Given the description of an element on the screen output the (x, y) to click on. 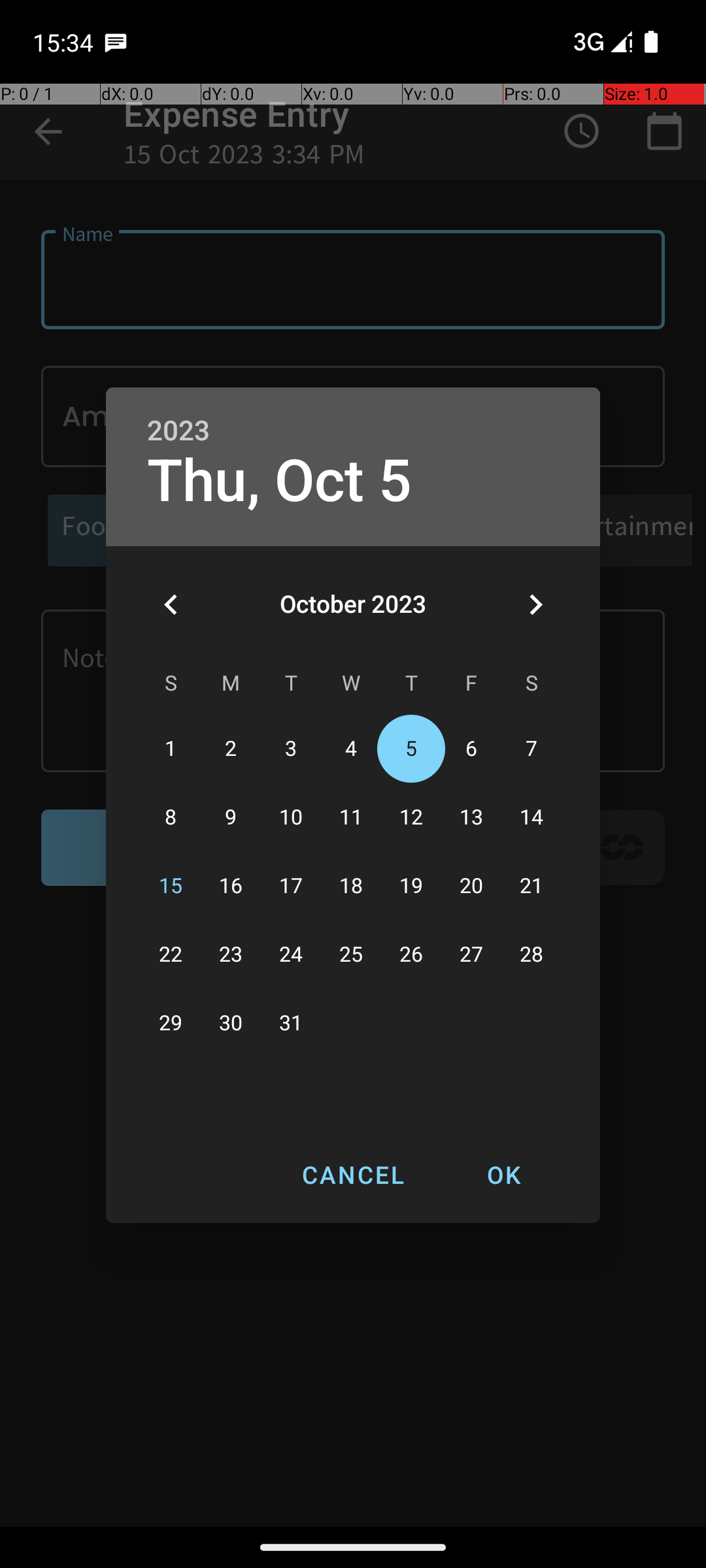
Thu, Oct 5 Element type: android.widget.TextView (279, 480)
